Given the description of an element on the screen output the (x, y) to click on. 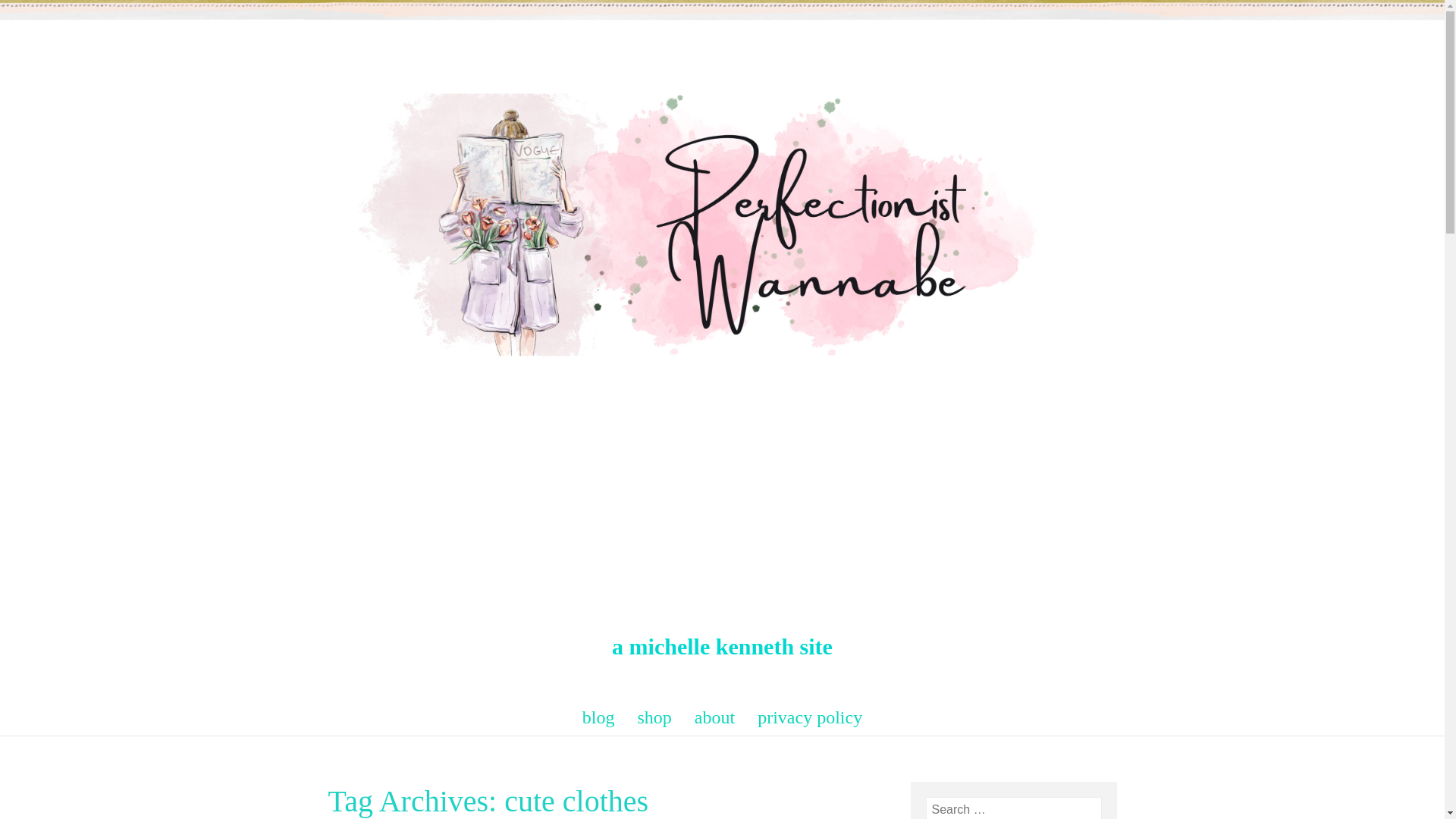
privacy policy (809, 717)
skip to content (313, 707)
about (714, 717)
blog (598, 717)
shop (654, 717)
Search (29, 14)
